Given the description of an element on the screen output the (x, y) to click on. 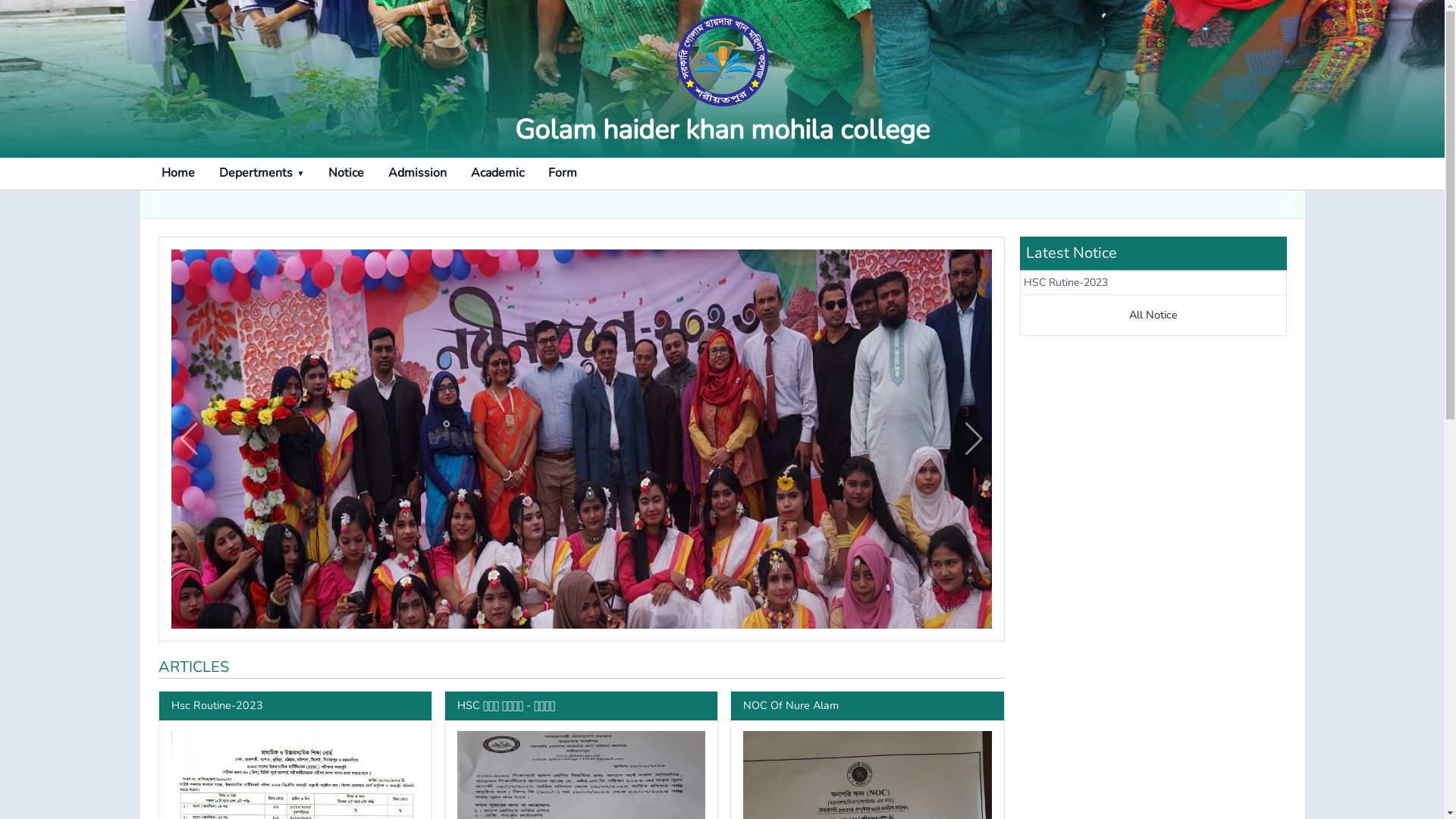
NOC Of Nure Alam Element type: text (790, 704)
Notice Element type: text (346, 172)
Academic Element type: text (497, 172)
Form Element type: text (562, 172)
Hsc Routine-2023 Element type: text (217, 704)
Admission Element type: text (417, 172)
HSC Rutine-2023 Element type: text (1065, 282)
All Notice Element type: text (1152, 314)
Home Element type: text (177, 172)
Depertments Element type: text (261, 173)
